Given the description of an element on the screen output the (x, y) to click on. 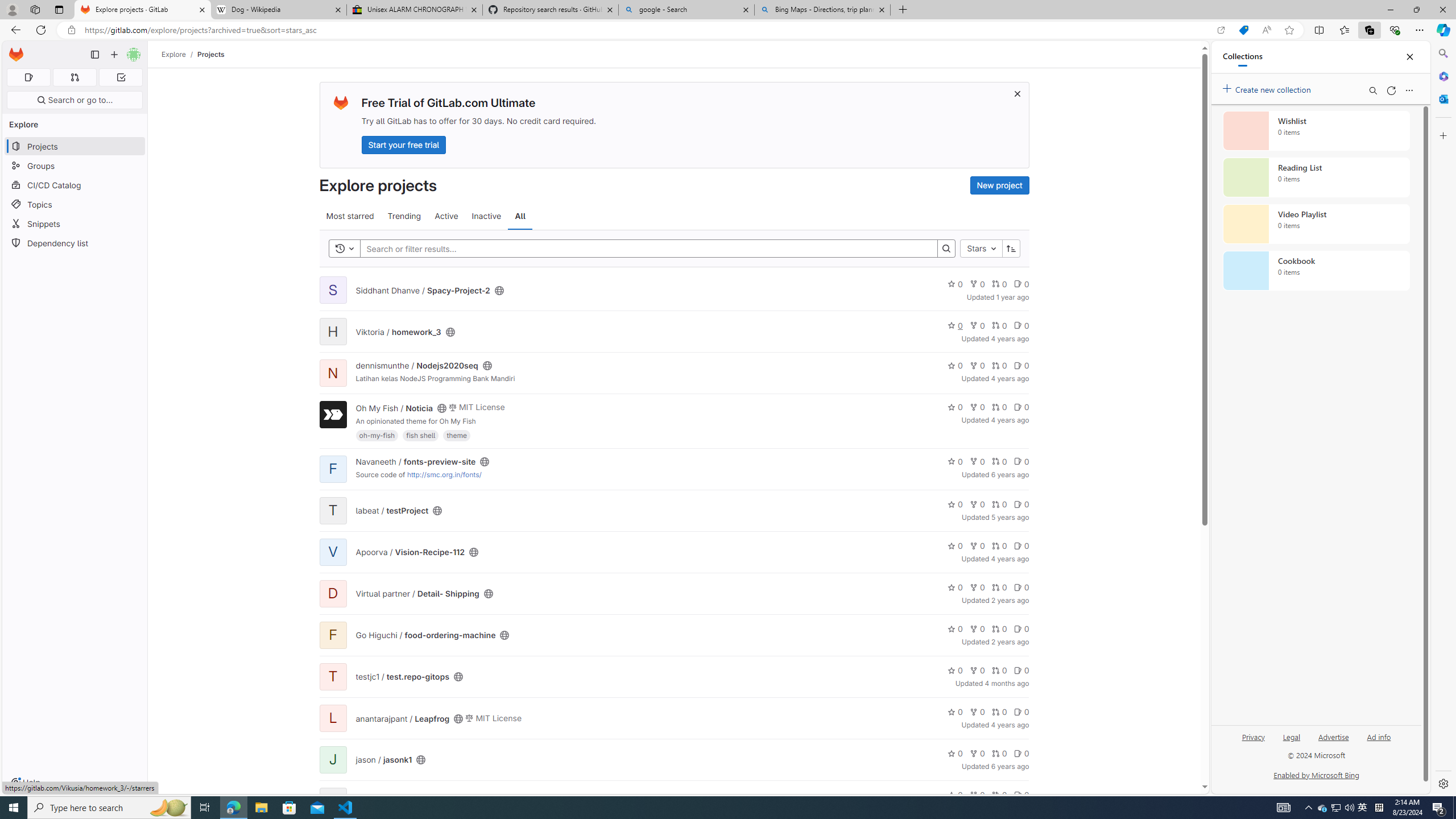
Ad info (1378, 741)
anantarajpant / Leapfrog (402, 718)
H (332, 331)
Create new... (113, 54)
Assigned issues 0 (28, 76)
dennismunthe / Nodejs2020seq (417, 365)
W (332, 800)
F (332, 634)
Groups (74, 165)
Projects (211, 53)
L (332, 718)
